Given the description of an element on the screen output the (x, y) to click on. 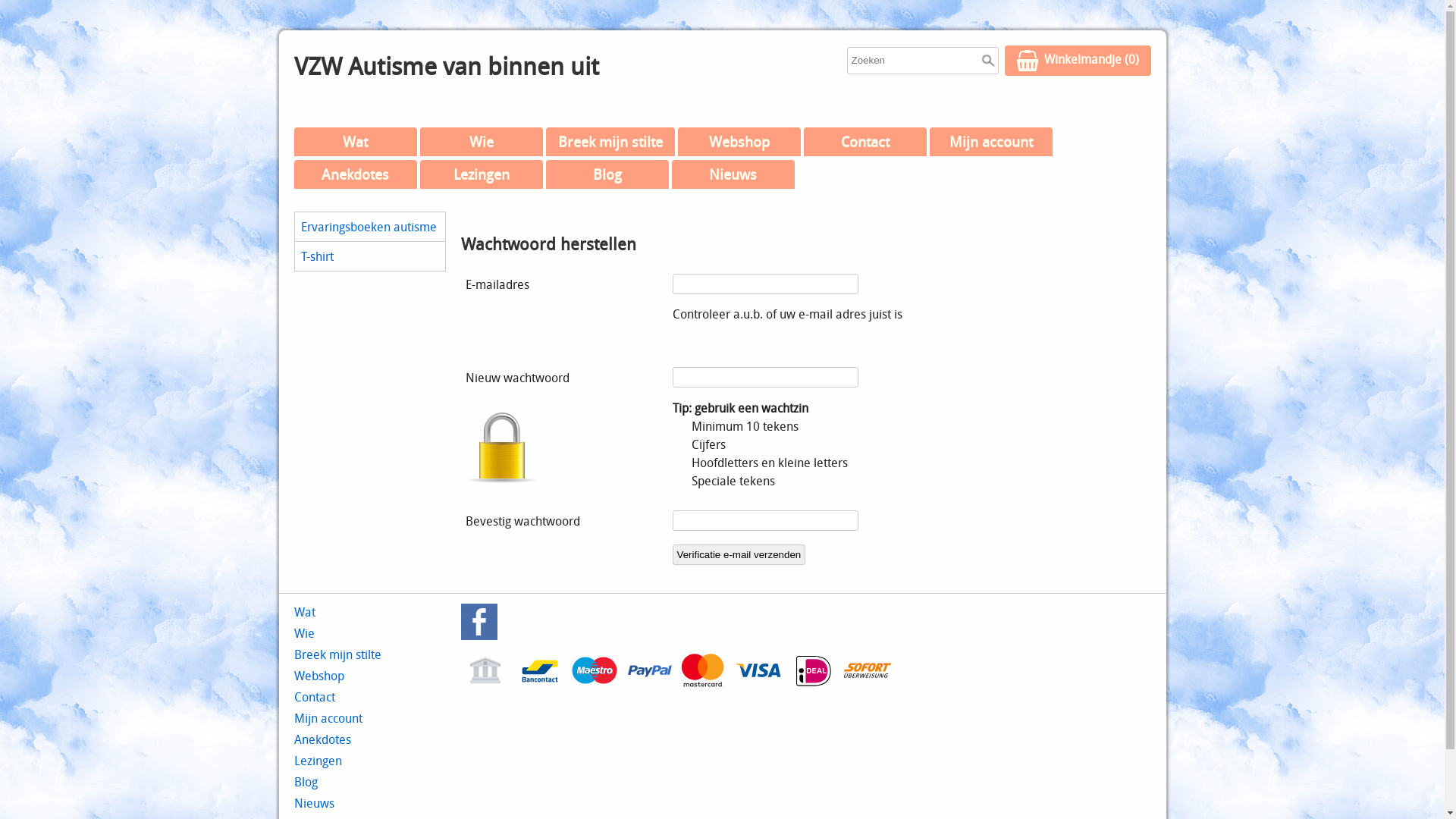
Wie Element type: text (304, 632)
T-shirt Element type: text (369, 255)
Breek mijn stilte Element type: text (610, 141)
Blog Element type: text (607, 174)
Anekdotes Element type: text (322, 738)
Nieuws Element type: text (732, 174)
Lezingen Element type: text (318, 760)
WinkelmandjeWinkelmandje (0) Element type: text (1077, 60)
Verificatie e-mail verzenden Element type: text (738, 554)
Ervaringsboeken autisme Element type: text (369, 226)
Blog Element type: text (305, 781)
Contact Element type: text (314, 696)
Mijn account Element type: text (328, 717)
Breek mijn stilte Element type: text (337, 654)
Wat Element type: text (355, 141)
Webshop Element type: text (319, 675)
Wie Element type: text (481, 141)
Wat Element type: text (304, 611)
Anekdotes Element type: text (355, 174)
Nieuws Element type: text (314, 802)
Lezingen Element type: text (481, 174)
Webshop Element type: text (738, 141)
Contact Element type: text (864, 141)
Mijn account Element type: text (990, 141)
